Given the description of an element on the screen output the (x, y) to click on. 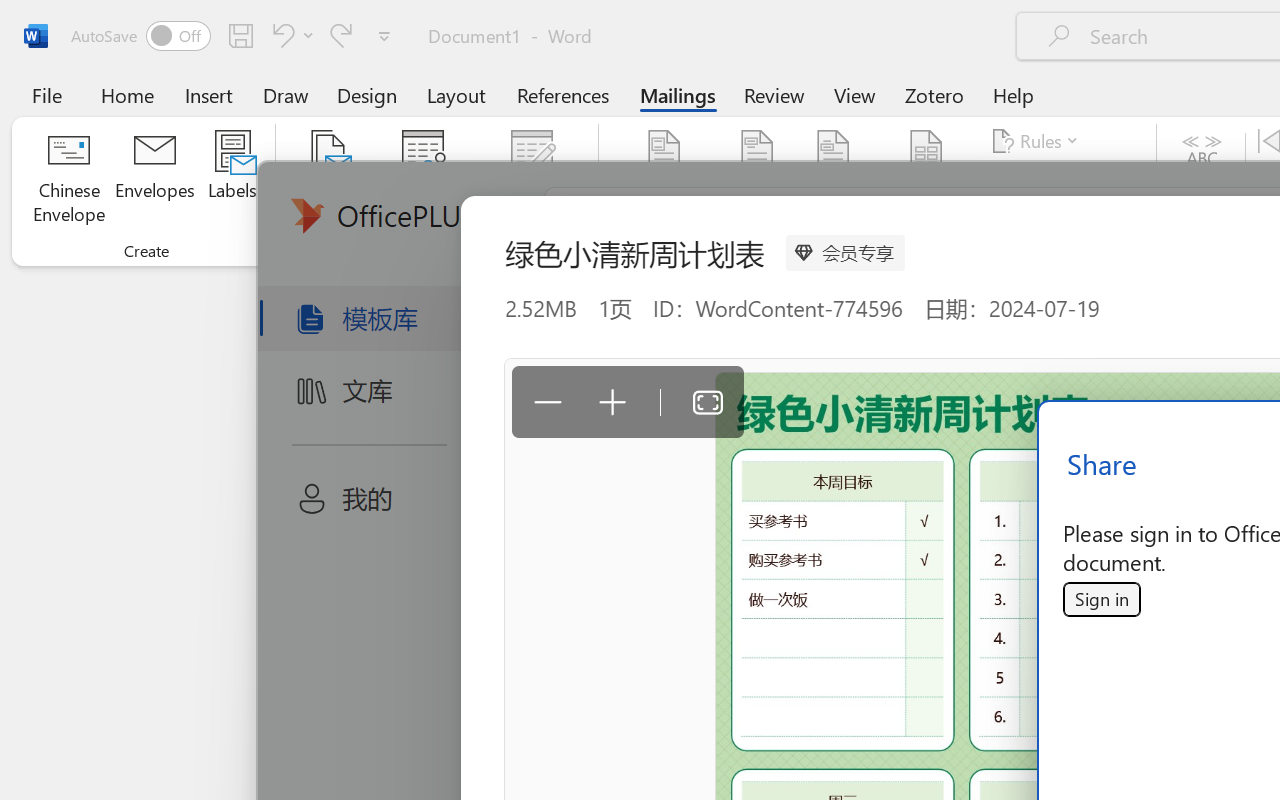
Match Fields... (1057, 179)
Chinese Envelope... (68, 179)
Start Mail Merge (328, 179)
Sign in (1101, 599)
Undo Apply Quick Style Set (290, 35)
Edit Recipient List... (532, 179)
Envelopes... (155, 179)
